Given the description of an element on the screen output the (x, y) to click on. 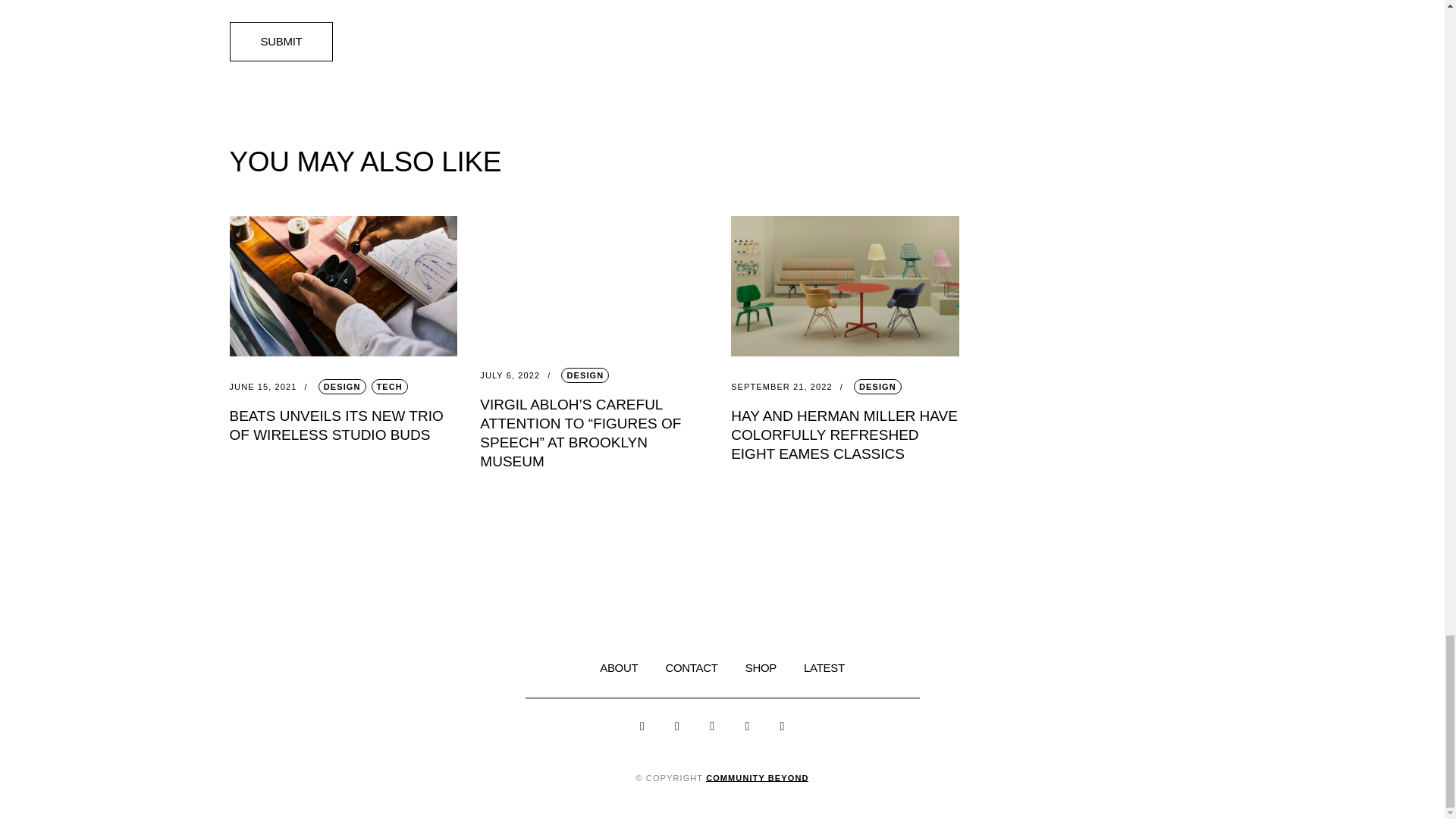
JUNE 15, 2021 (271, 387)
SUBMIT (280, 41)
Virgil Abloh: "Figures of Speech" opens July 1 (593, 279)
